Given the description of an element on the screen output the (x, y) to click on. 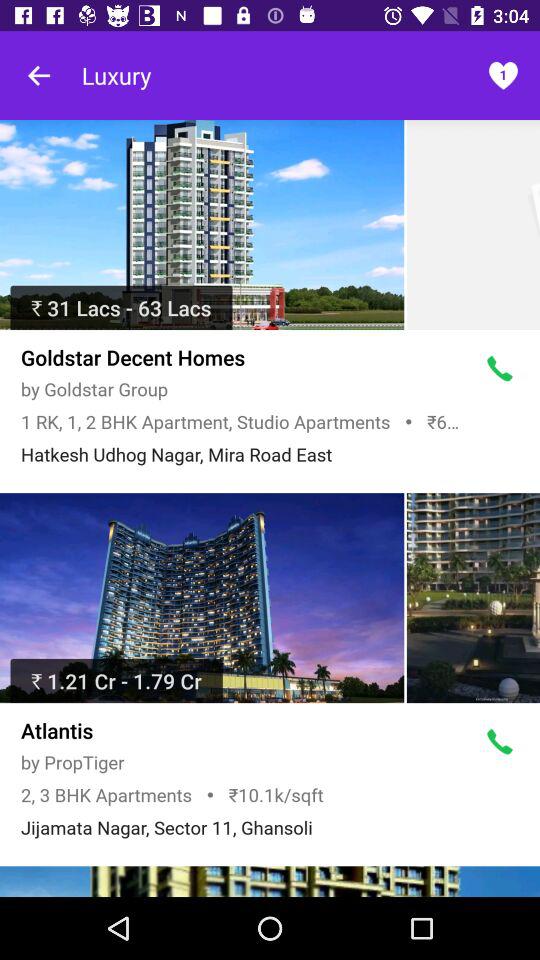
press this symbol to call us (500, 742)
